Given the description of an element on the screen output the (x, y) to click on. 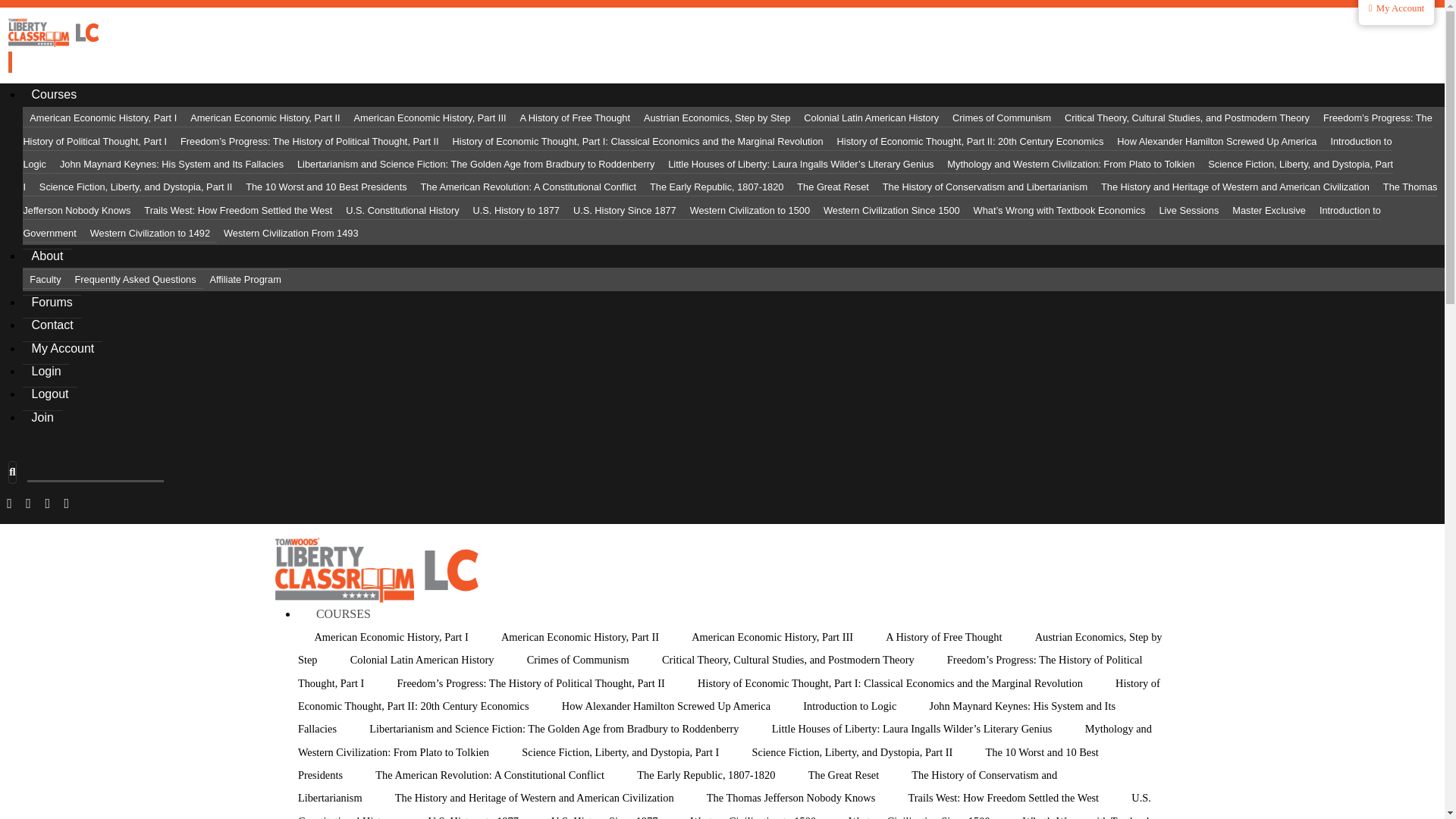
The Thomas Jefferson Nobody Knows (730, 198)
Western Civilization to 1500 (749, 210)
Rss (66, 503)
U.S. History Since 1877 (624, 210)
Mythology and Western Civilization: From Plato to Tolkien (1070, 163)
Colonial Latin American History (870, 117)
Critical Theory, Cultural Studies, and Postmodern Theory (1187, 117)
Youtube (47, 503)
Live Sessions (1188, 210)
The Early Republic, 1807-1820 (716, 186)
American Economic History, Part II (264, 117)
Twitter (28, 503)
The American Revolution: A Constitutional Conflict (528, 186)
Introduction to Government (701, 221)
Austrian Economics, Step by Step (716, 117)
